Given the description of an element on the screen output the (x, y) to click on. 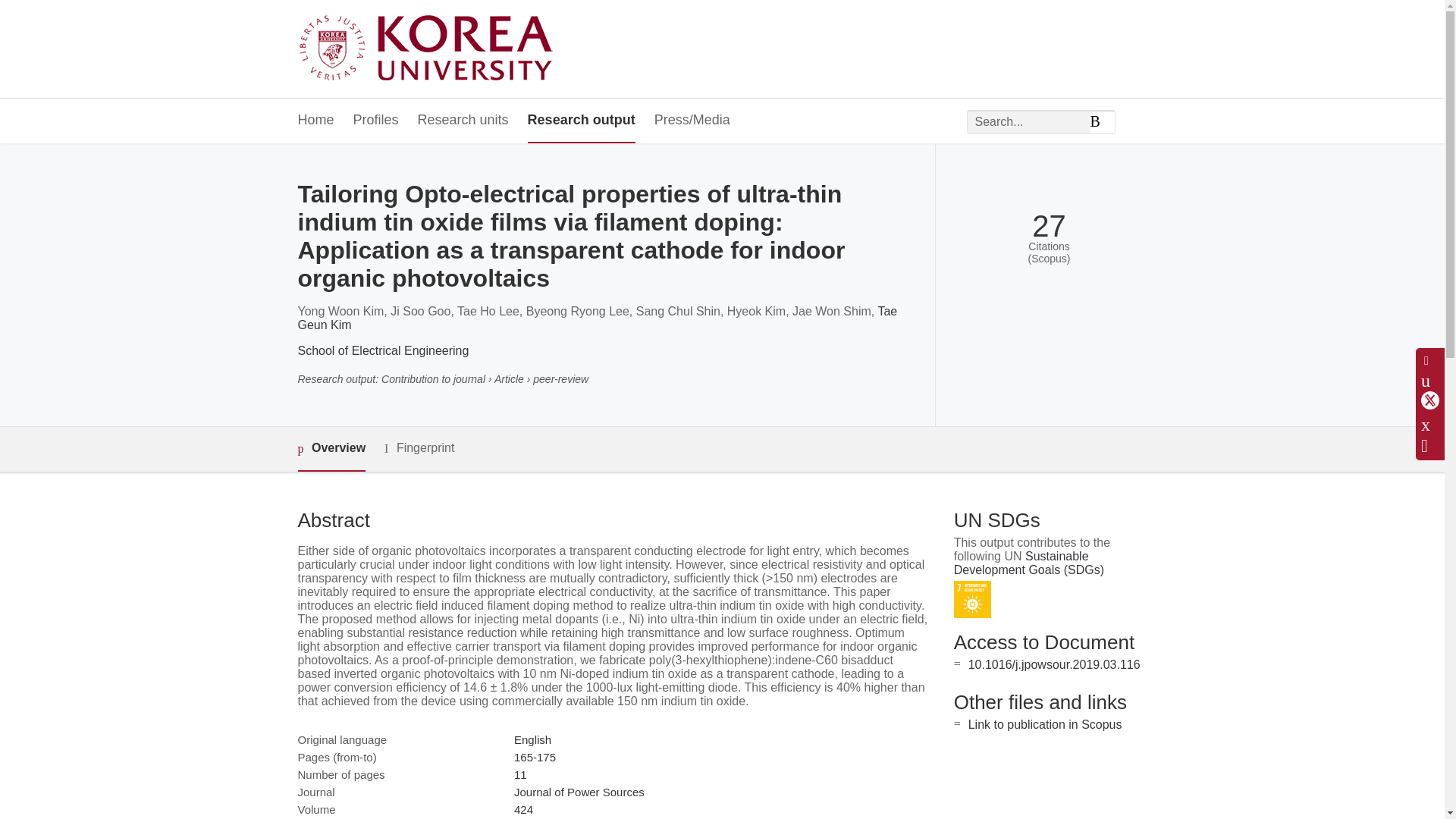
Overview (331, 448)
27 (1048, 225)
School of Electrical Engineering (382, 350)
Journal of Power Sources (579, 791)
Fingerprint (419, 448)
Profiles (375, 120)
Research units (462, 120)
Tae Geun Kim (596, 317)
Home (315, 120)
Korea University Home (429, 49)
Research output (580, 120)
SDG 7 - Affordable and Clean Energy (972, 599)
Link to publication in Scopus (1045, 724)
